Given the description of an element on the screen output the (x, y) to click on. 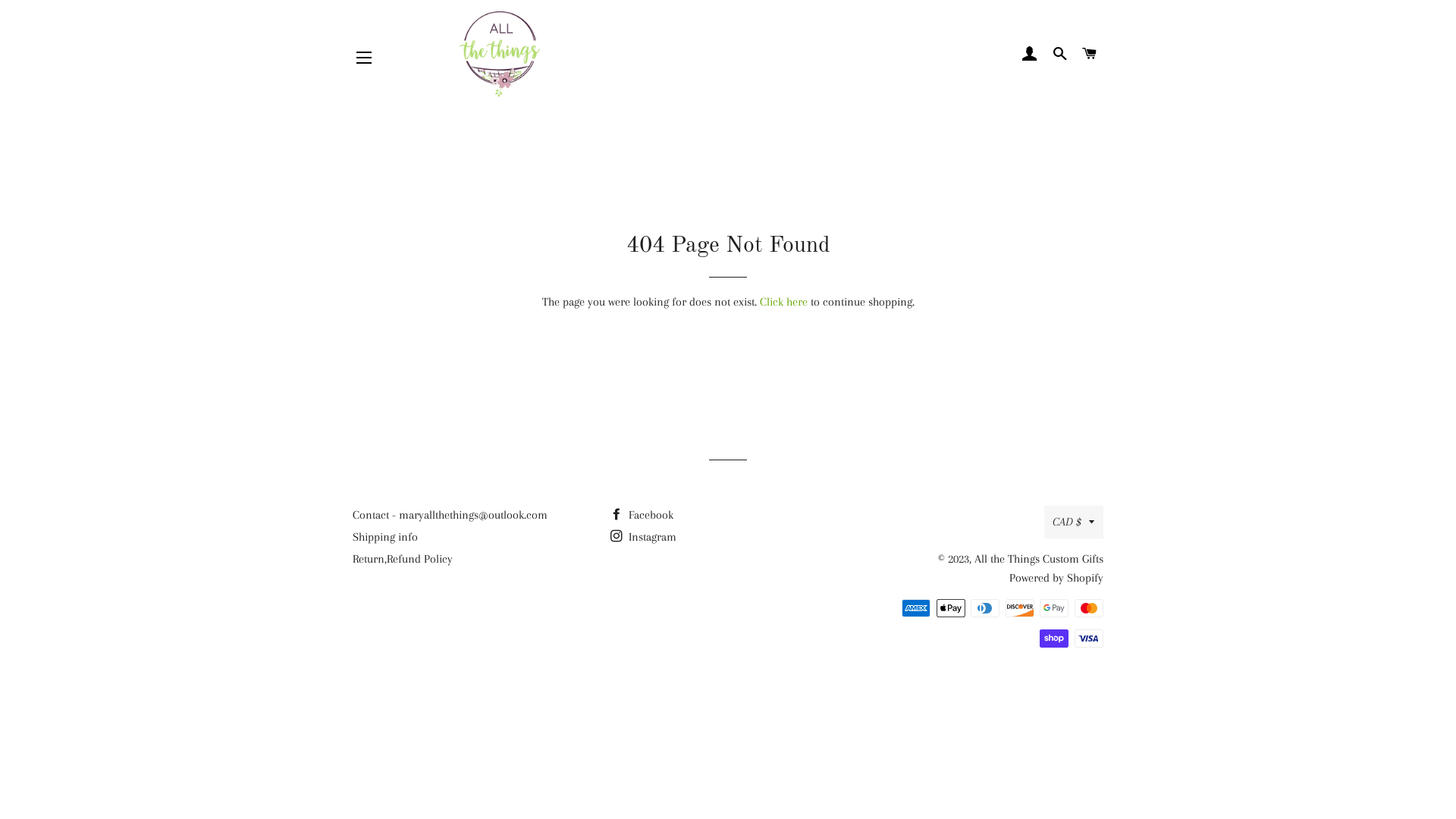
Powered by Shopify Element type: text (1056, 577)
CAD $ Element type: text (1073, 521)
Shipping info Element type: text (384, 536)
CART Element type: text (1089, 53)
Return,Refund Policy Element type: text (402, 558)
All the Things Custom Gifts Element type: text (1038, 558)
Instagram Element type: text (643, 536)
SITE NAVIGATION Element type: text (363, 57)
SEARCH Element type: text (1059, 53)
LOG IN Element type: text (1029, 53)
Click here Element type: text (783, 301)
Facebook Element type: text (641, 514)
Contact - maryallthethings@outlook.com Element type: text (449, 514)
